Given the description of an element on the screen output the (x, y) to click on. 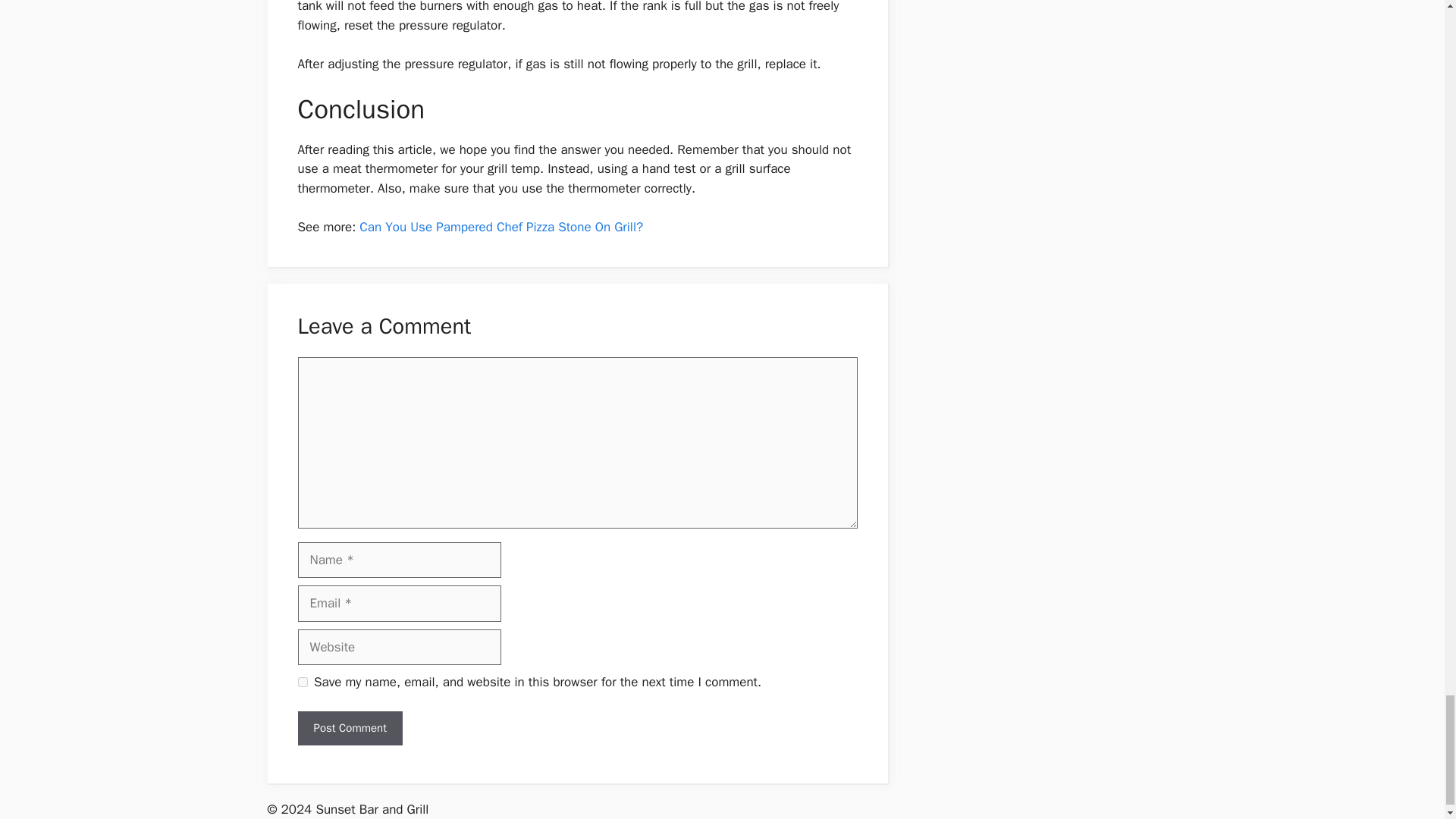
Post Comment (349, 728)
yes (302, 682)
Can You Use Pampered Chef Pizza Stone On Grill? (501, 227)
Post Comment (349, 728)
